Given the description of an element on the screen output the (x, y) to click on. 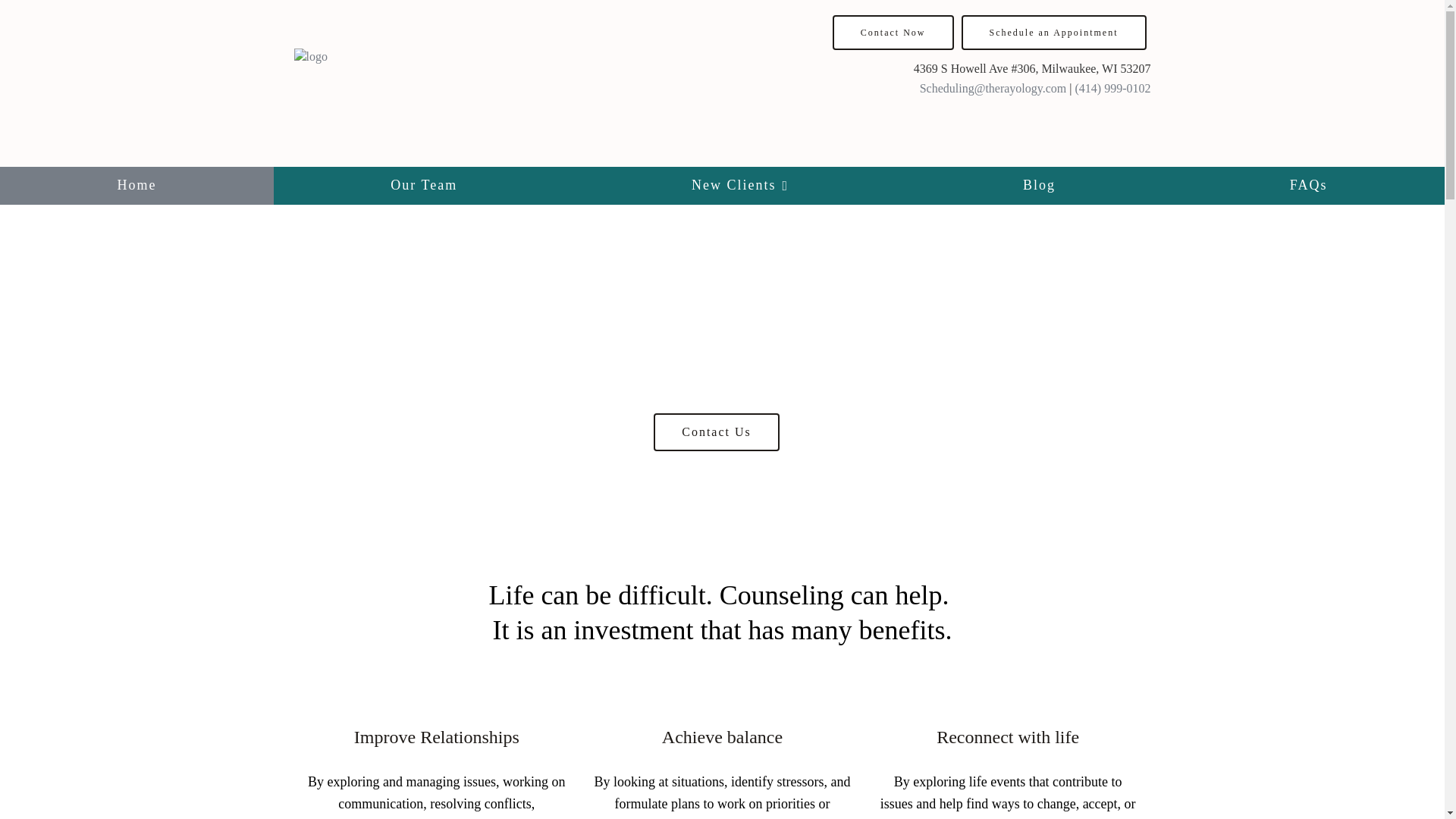
Contact Now (892, 32)
Achieve balance (721, 737)
Contact Us (715, 432)
Reconnect with life (1008, 737)
New Clients (740, 185)
Our Team (424, 185)
Blog (1039, 185)
Improve Relationships (436, 737)
Schedule an Appointment (1053, 32)
Home (136, 185)
